Given the description of an element on the screen output the (x, y) to click on. 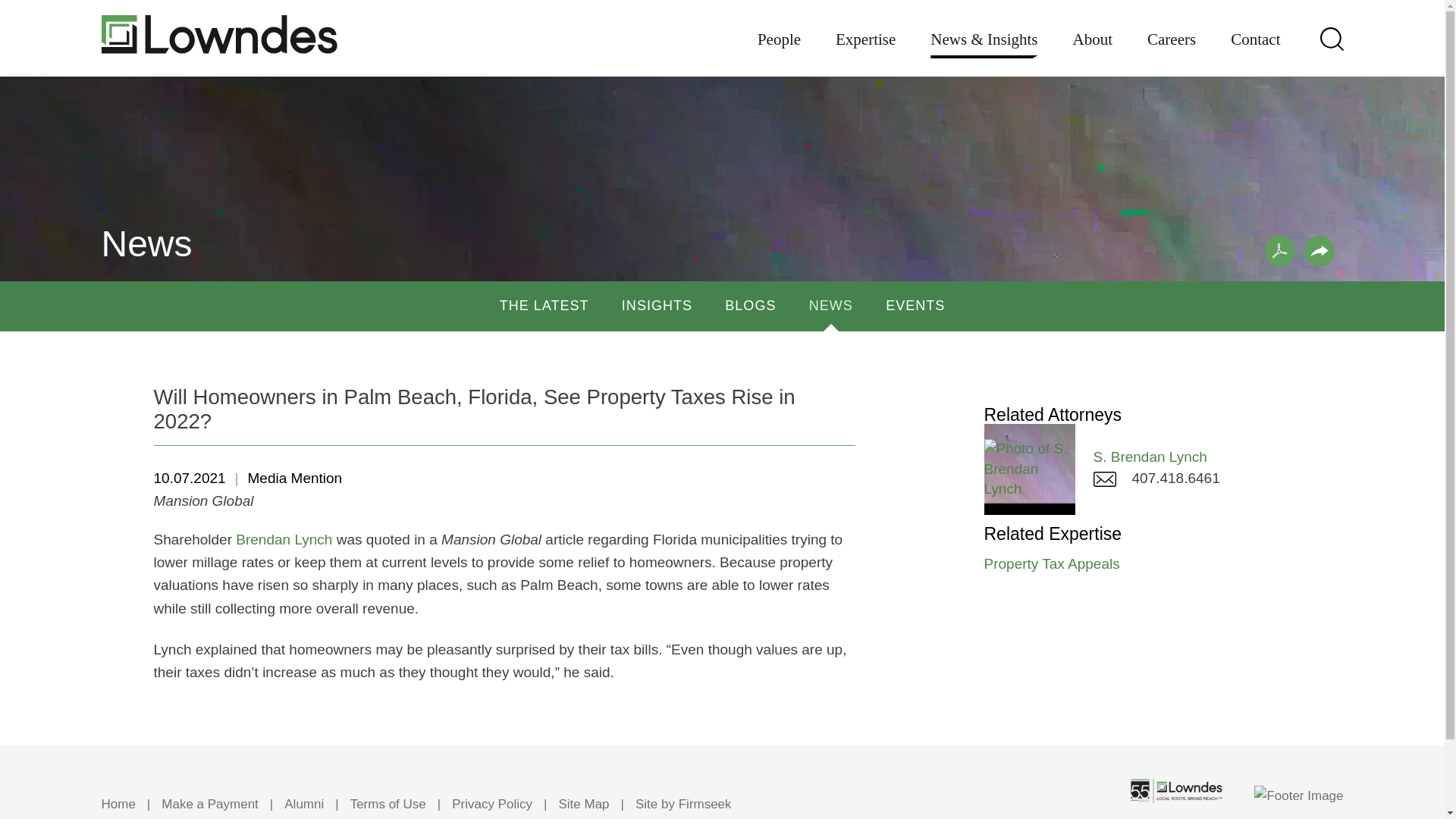
Careers (1170, 49)
People (778, 49)
Brendan Lynch Bio (283, 539)
About (1093, 49)
Main Menu (674, 19)
Share (1319, 250)
Print PDF (1280, 250)
Search (1330, 38)
Menu (674, 19)
Expertise (865, 49)
